Given the description of an element on the screen output the (x, y) to click on. 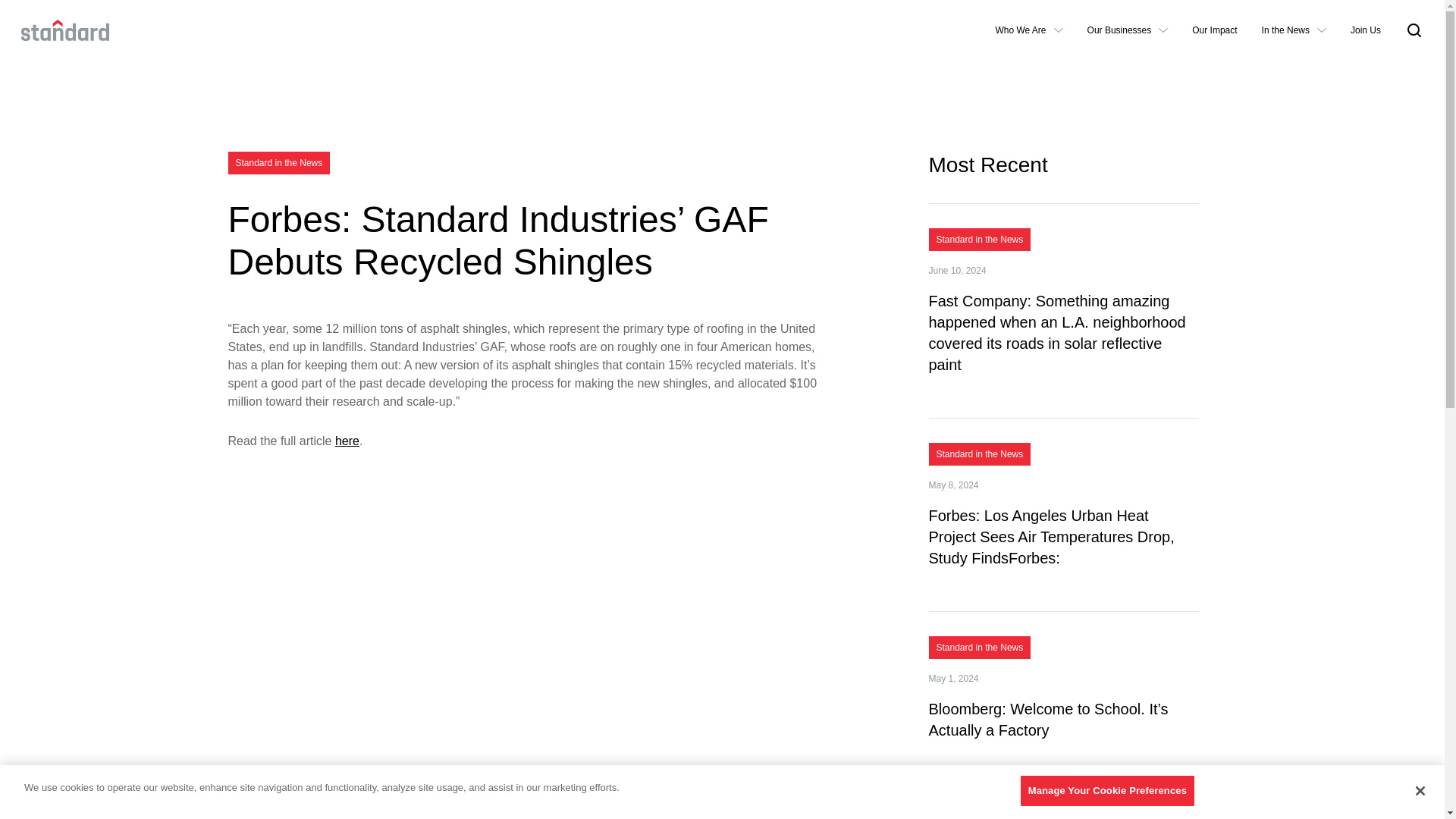
STANDARD INDUSTRIES (65, 29)
Search (1119, 278)
Our Businesses (1128, 30)
In the News (1294, 30)
here (346, 440)
Open Search (1414, 30)
Who We Are (1028, 30)
